Given the description of an element on the screen output the (x, y) to click on. 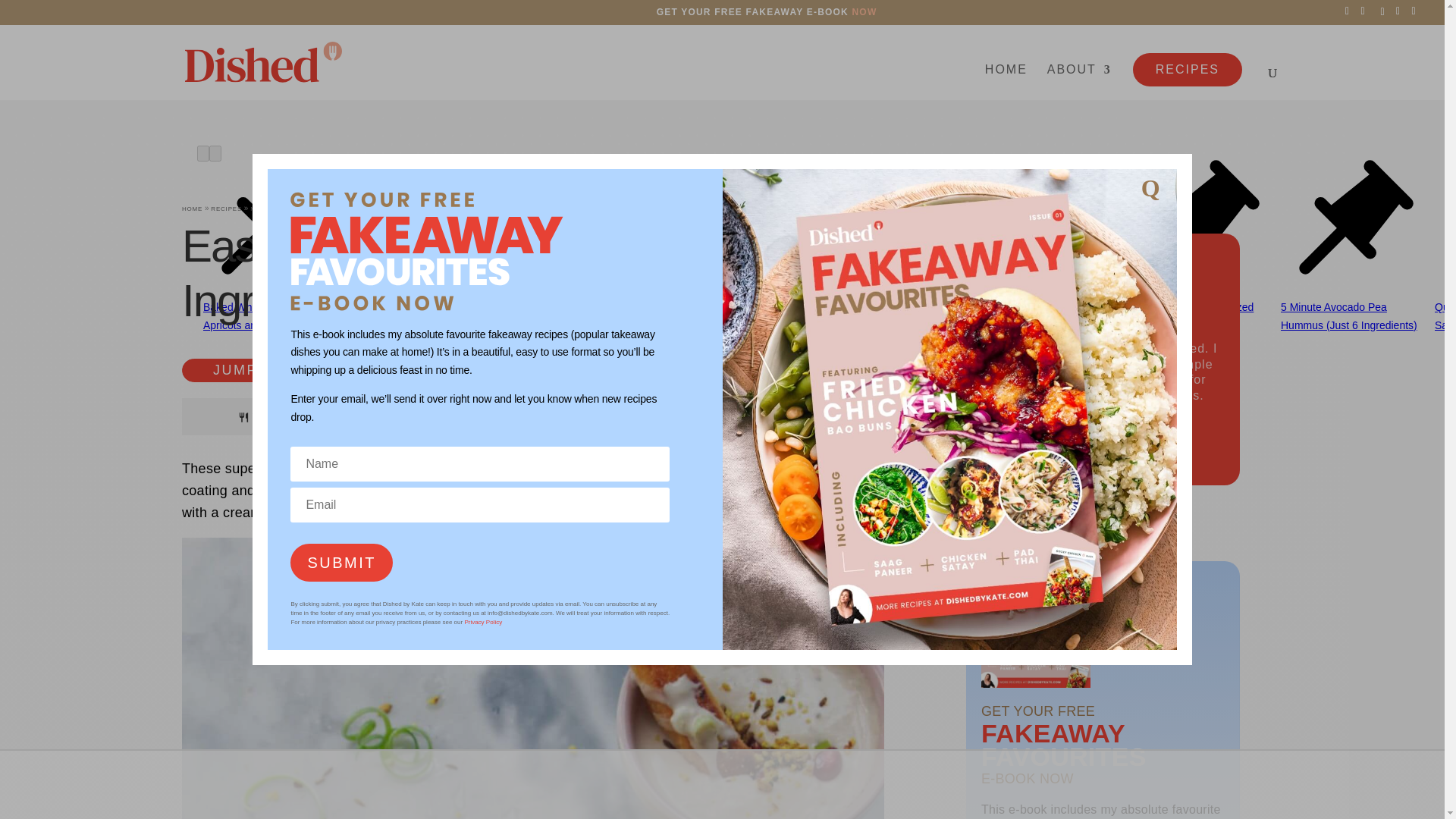
RECIPES (1186, 69)
QUICK AND EASY (318, 208)
JUMP TO RECIPE (283, 370)
4 COMMENTS (685, 372)
METHOD (264, 208)
JUMP TO RECIPE (283, 370)
EBook-sVG-title (426, 250)
ABOUT (1079, 81)
GET YOUR FREE FAKEAWAY E-BOOK NOW (766, 11)
RECIPES (226, 208)
HOME (192, 208)
PRINT RECIPE (477, 370)
HOME (1006, 81)
